Given the description of an element on the screen output the (x, y) to click on. 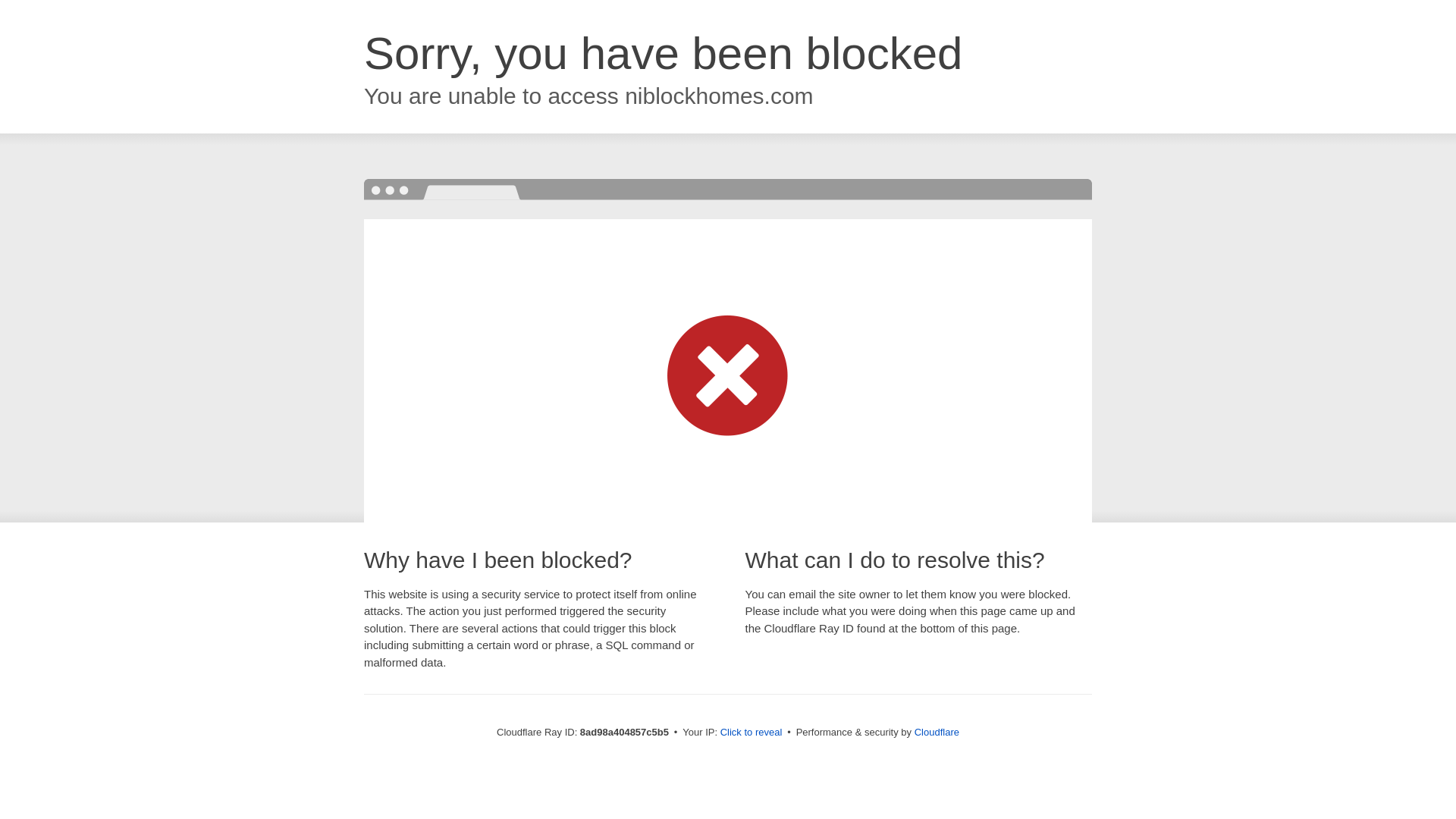
Click to reveal (751, 732)
Cloudflare (936, 731)
